Given the description of an element on the screen output the (x, y) to click on. 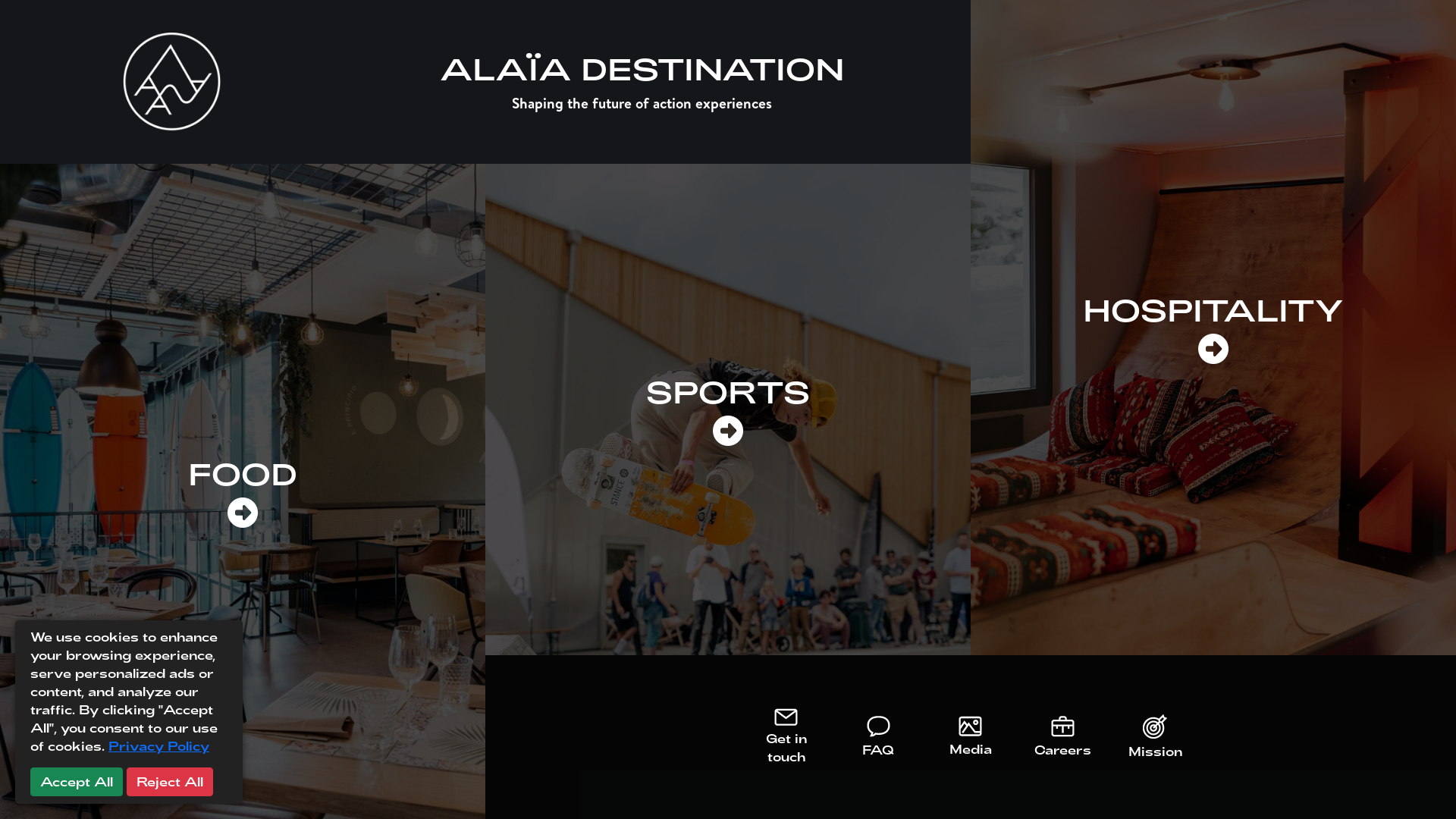
Reject All Element type: text (169, 781)
Get in touch Element type: text (786, 737)
Careers Element type: text (1063, 738)
Accept All Element type: text (76, 781)
Privacy Policy Element type: text (158, 745)
Media Element type: text (970, 738)
FAQ Element type: text (878, 738)
